Given the description of an element on the screen output the (x, y) to click on. 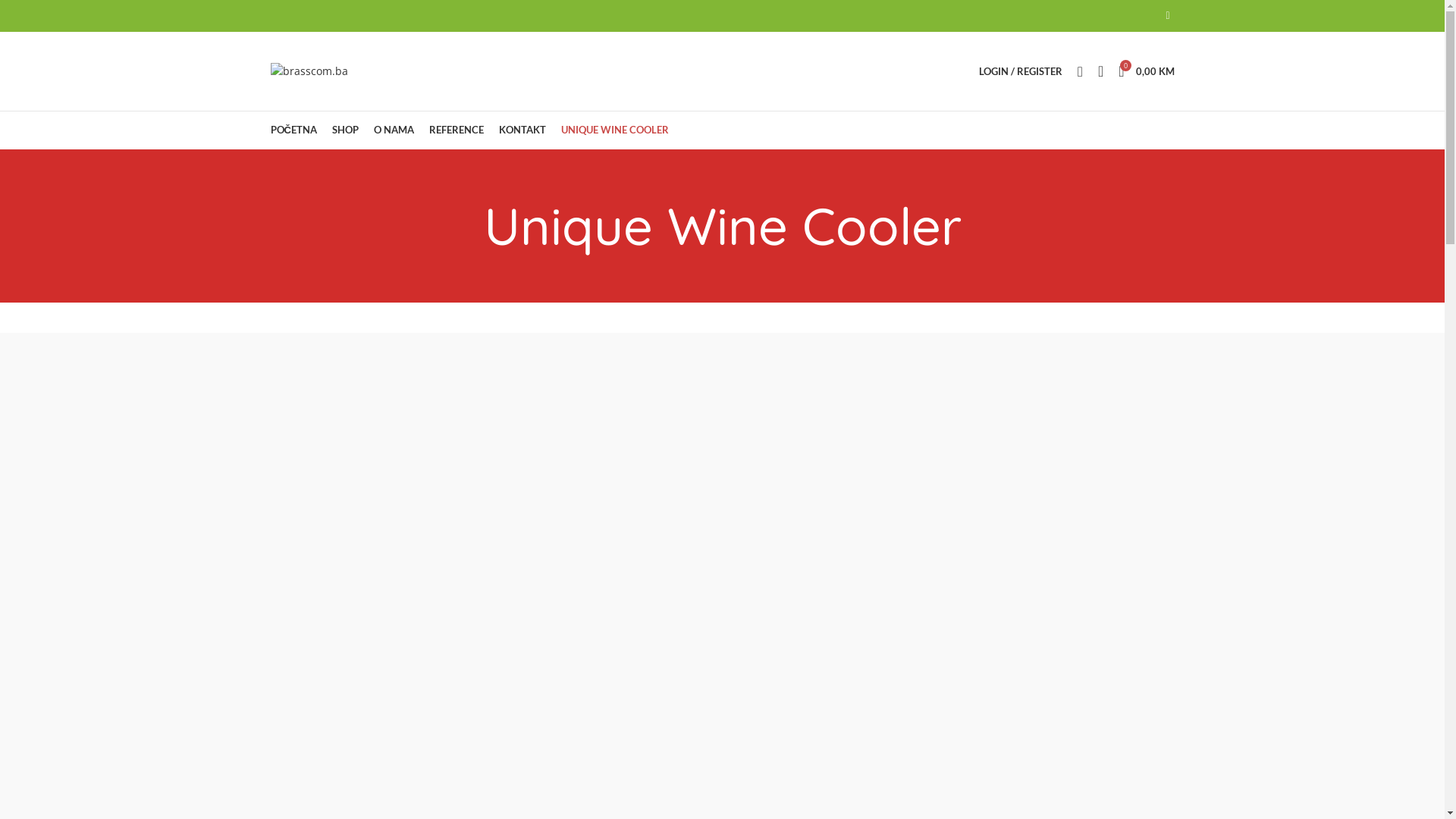
Search Element type: hover (1080, 71)
O NAMA Element type: text (393, 130)
0
0,00 KM Element type: text (1145, 71)
UNIQUE WINE COOLER Element type: text (614, 130)
SHOP Element type: text (345, 130)
Search for posts Element type: hover (722, 54)
SEARCH Element type: text (1424, 54)
REFERENCE Element type: text (456, 130)
My Wishlist Element type: hover (1100, 71)
LOGIN / REGISTER Element type: text (1020, 71)
KONTAKT Element type: text (522, 130)
Log in Element type: text (1020, 322)
